Given the description of an element on the screen output the (x, y) to click on. 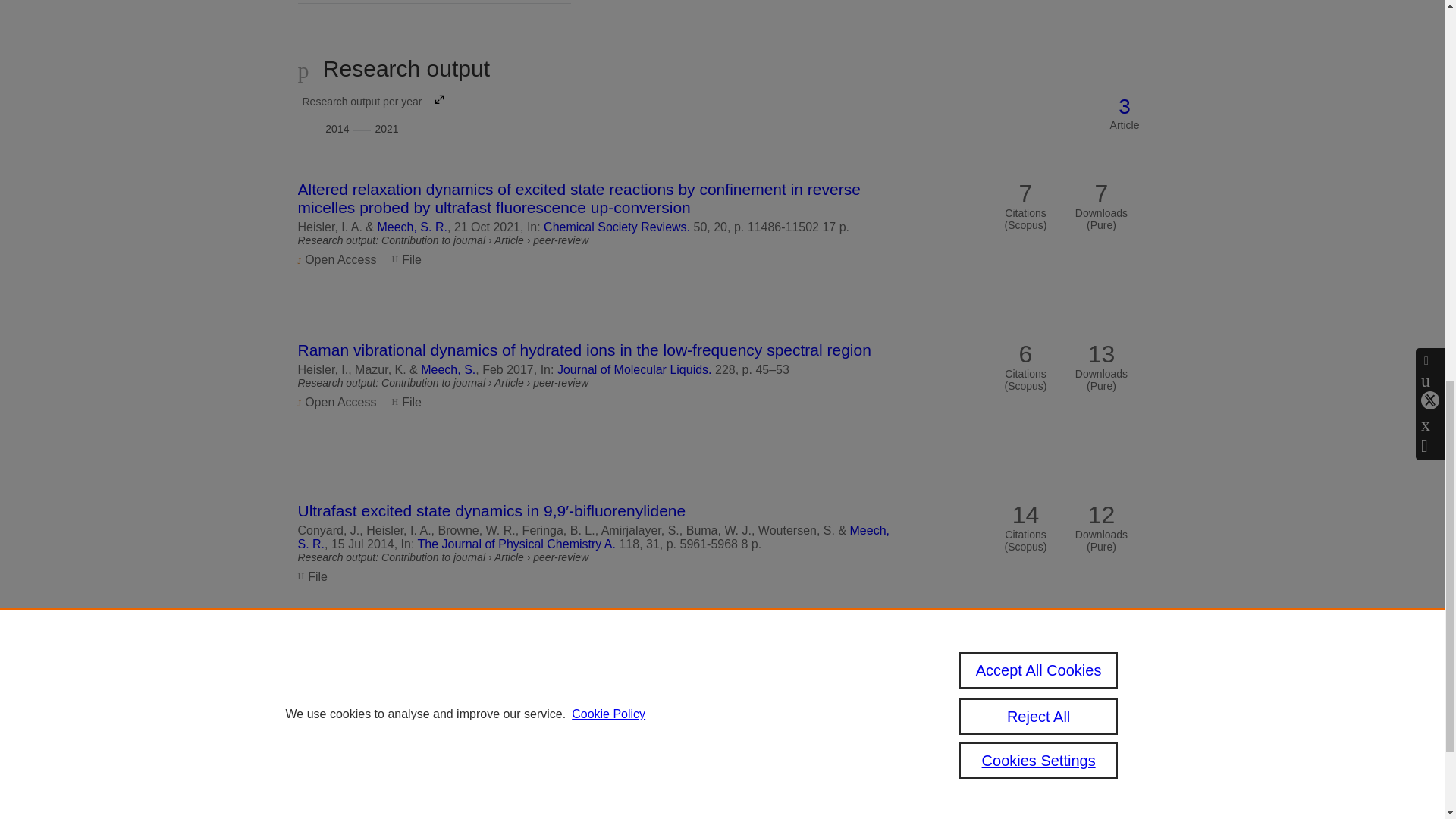
Chemical Society Reviews. (616, 226)
Journal of Molecular Liquids. (634, 369)
Meech, S. R. (370, 113)
3 (411, 226)
Scopus (1124, 106)
The Journal of Physical Chemistry A. (652, 785)
Pure (516, 543)
